Given the description of an element on the screen output the (x, y) to click on. 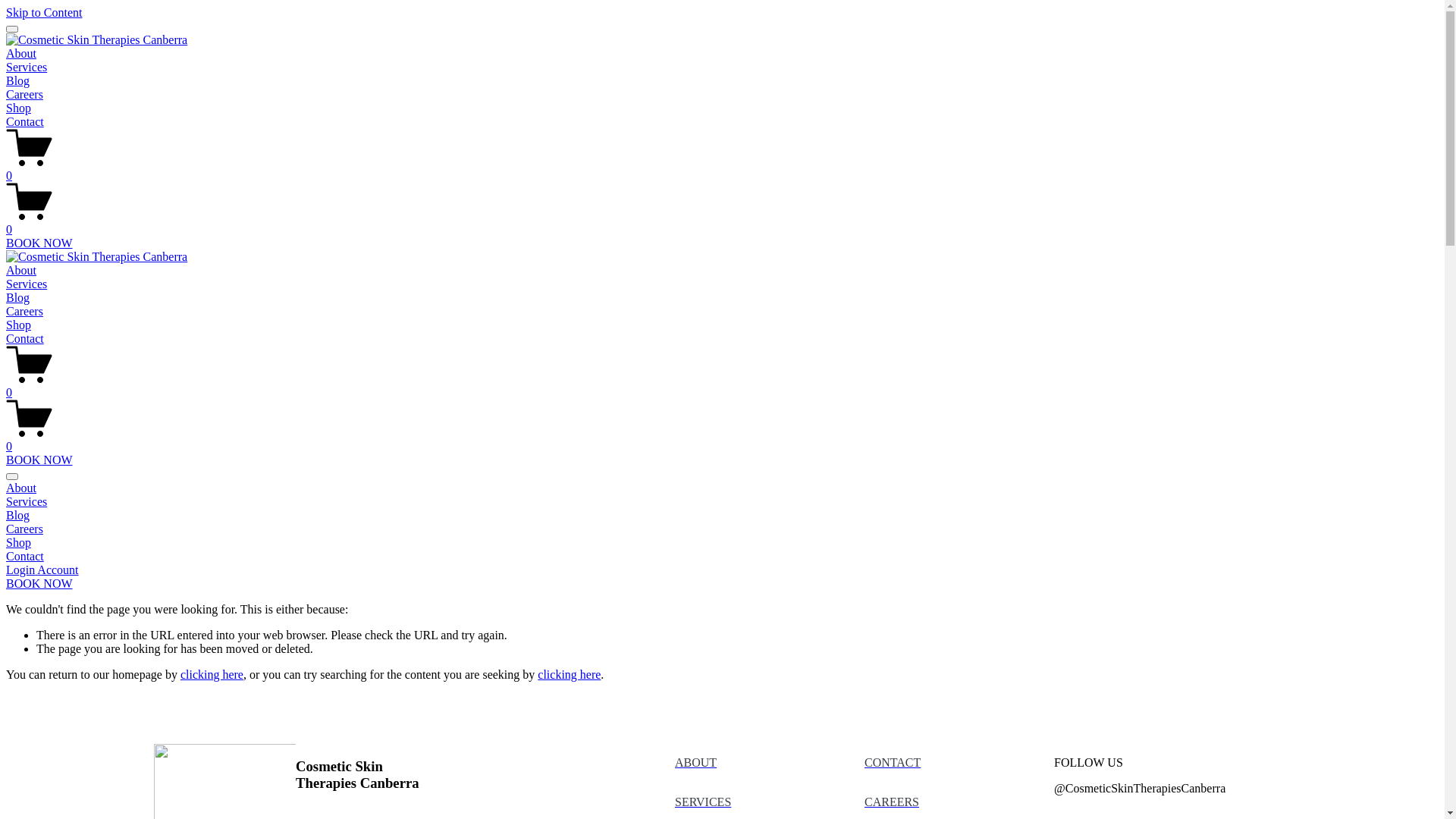
ABOUT Element type: text (695, 762)
About Element type: text (21, 53)
BOOK NOW Element type: text (39, 242)
0 Element type: text (722, 222)
Login Account Element type: text (42, 569)
Careers Element type: text (722, 529)
About Element type: text (21, 269)
Shop Element type: text (18, 107)
Shop Element type: text (722, 542)
Contact Element type: text (722, 556)
clicking here Element type: text (568, 674)
0 Element type: text (722, 168)
clicking here Element type: text (211, 674)
Shop Element type: text (18, 324)
CAREERS Element type: text (891, 801)
About Element type: text (722, 488)
CONTACT Element type: text (892, 762)
0 Element type: text (722, 439)
SERVICES Element type: text (702, 801)
Blog Element type: text (17, 80)
Services Element type: text (26, 66)
Skip to Content Element type: text (43, 12)
Services Element type: text (722, 501)
Careers Element type: text (24, 93)
Contact Element type: text (24, 338)
Careers Element type: text (24, 310)
BOOK NOW Element type: text (39, 583)
Contact Element type: text (24, 121)
Blog Element type: text (17, 297)
0 Element type: text (722, 385)
BOOK NOW Element type: text (39, 459)
Services Element type: text (26, 283)
Blog Element type: text (722, 515)
